Given the description of an element on the screen output the (x, y) to click on. 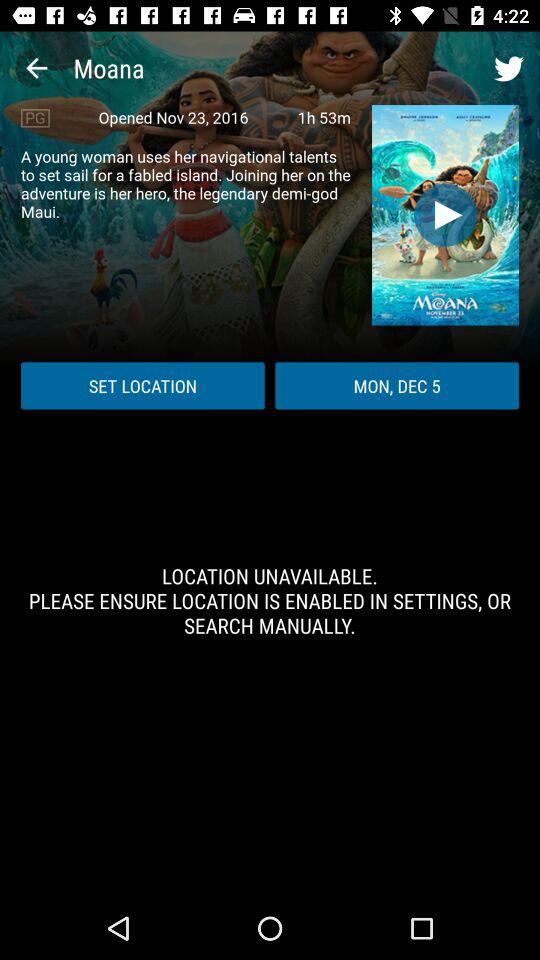
choose the item to the left of the moana icon (36, 68)
